Given the description of an element on the screen output the (x, y) to click on. 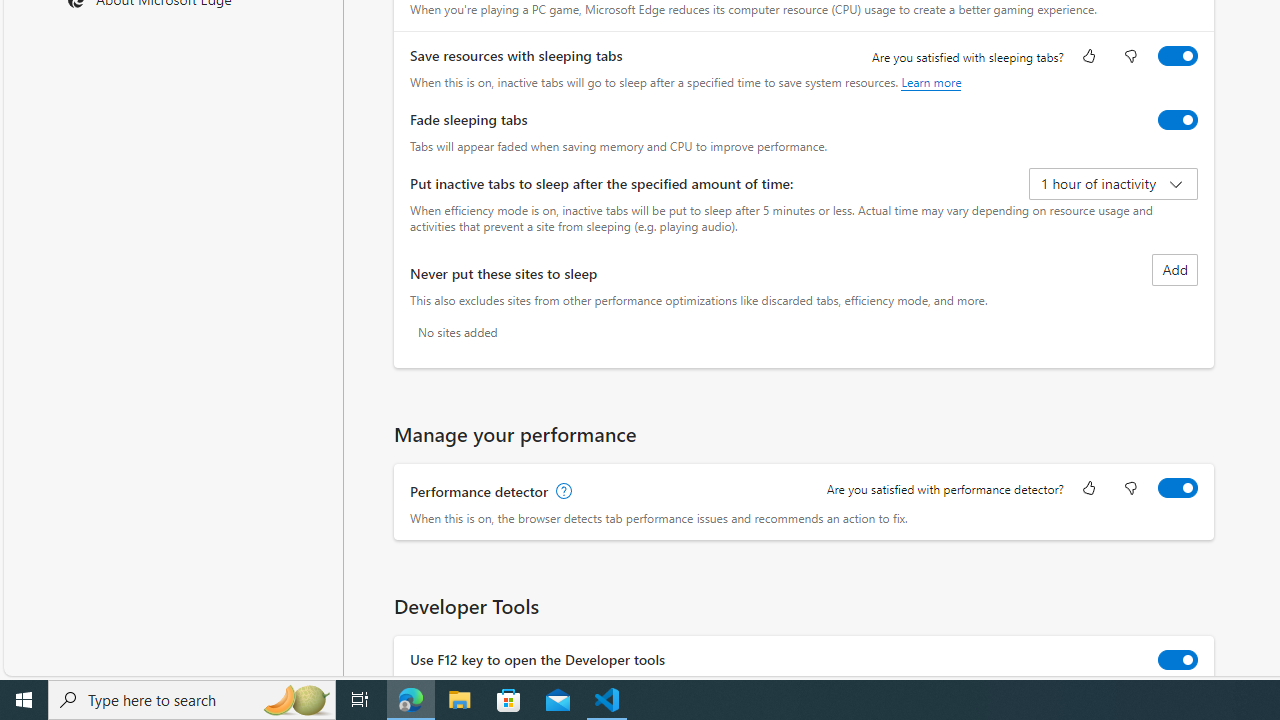
Add site to never put these sites to sleep list (1175, 269)
Performance detector, learn more (562, 492)
Learn more (931, 82)
Save resources with sleeping tabs (1178, 56)
Performance detector (1178, 488)
Use F12 key to open the Developer tools (1178, 660)
Fade sleeping tabs (1178, 120)
